Given the description of an element on the screen output the (x, y) to click on. 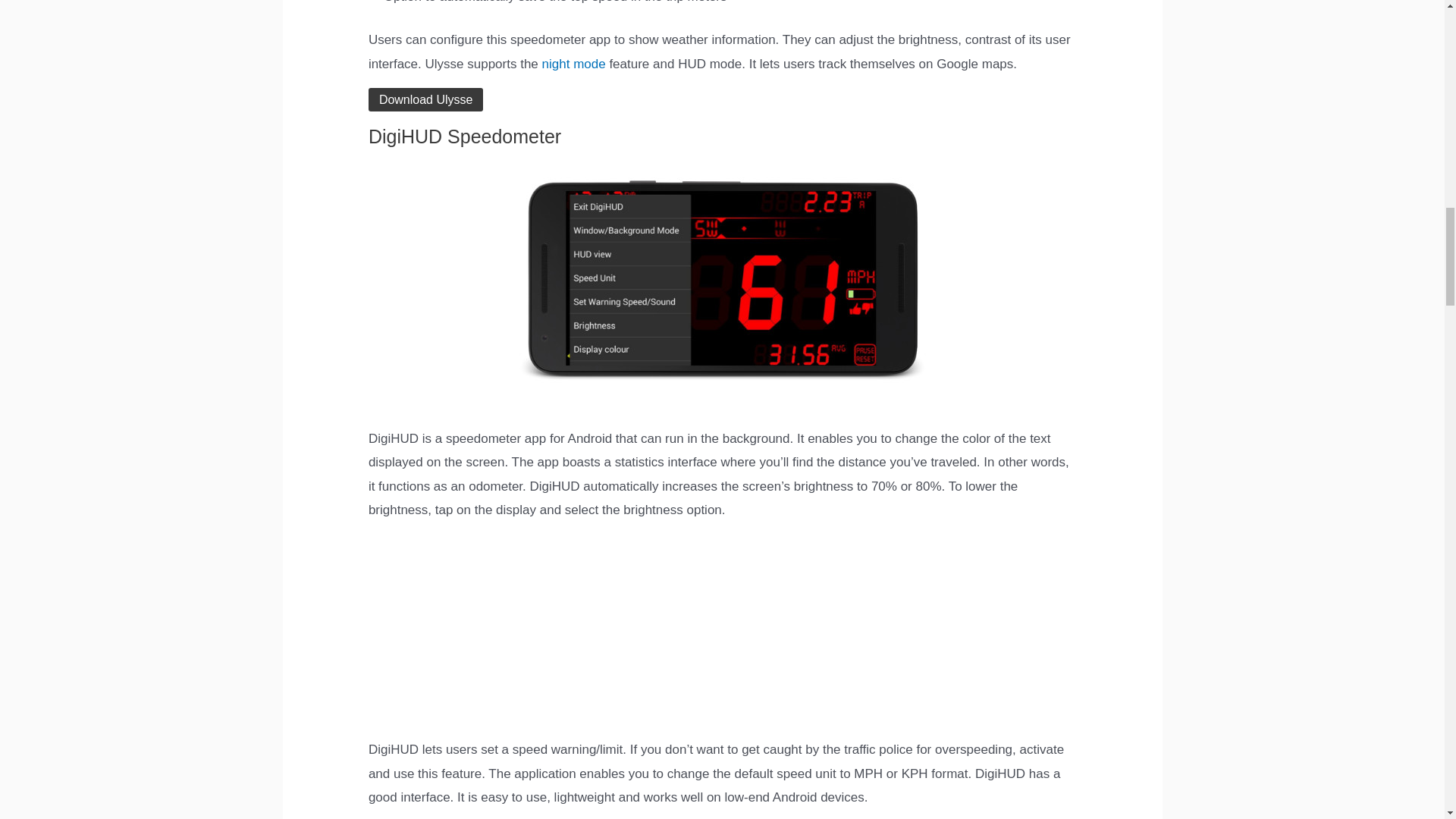
Advertisement (721, 628)
